Given the description of an element on the screen output the (x, y) to click on. 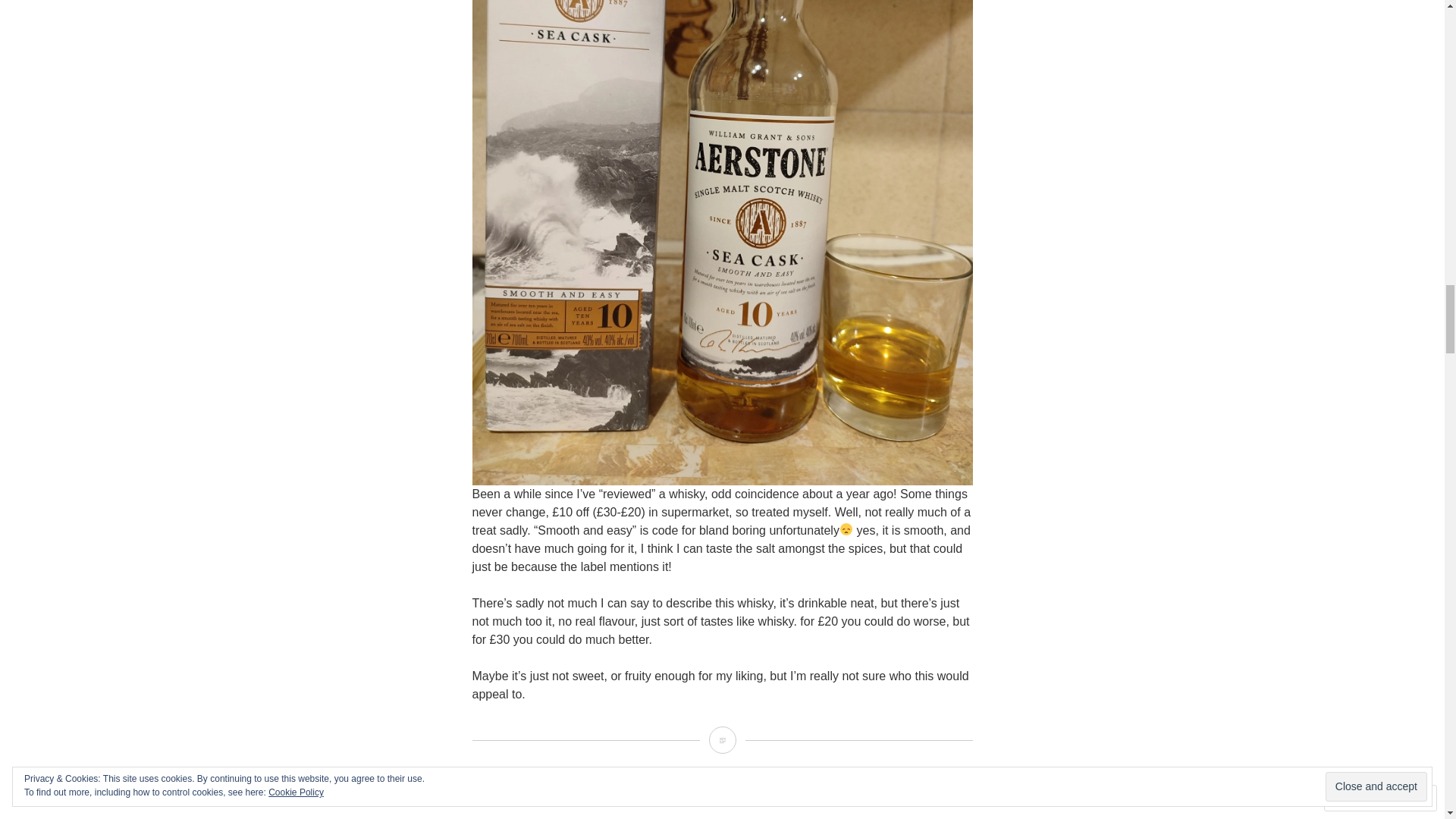
THE WOODSMAN (567, 816)
